Given the description of an element on the screen output the (x, y) to click on. 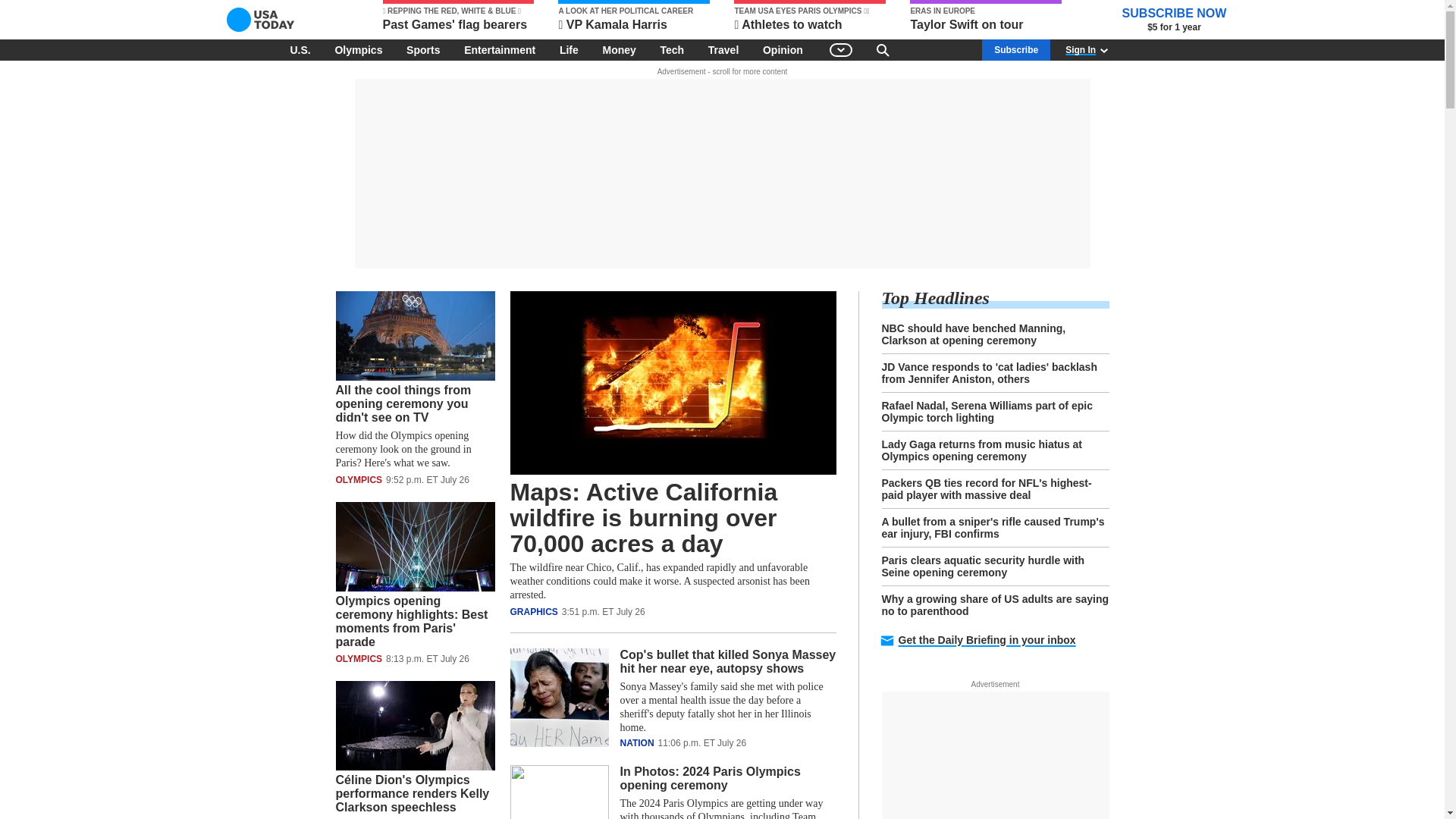
Taylor Swift on tour (985, 17)
Search (882, 49)
Tech (671, 49)
Money (618, 49)
Sports (422, 49)
Past Games' flag bearers (457, 17)
Entertainment (500, 49)
Life (568, 49)
Travel (722, 49)
Olympics (358, 49)
Opinion (782, 49)
U.S. (299, 49)
